Given the description of an element on the screen output the (x, y) to click on. 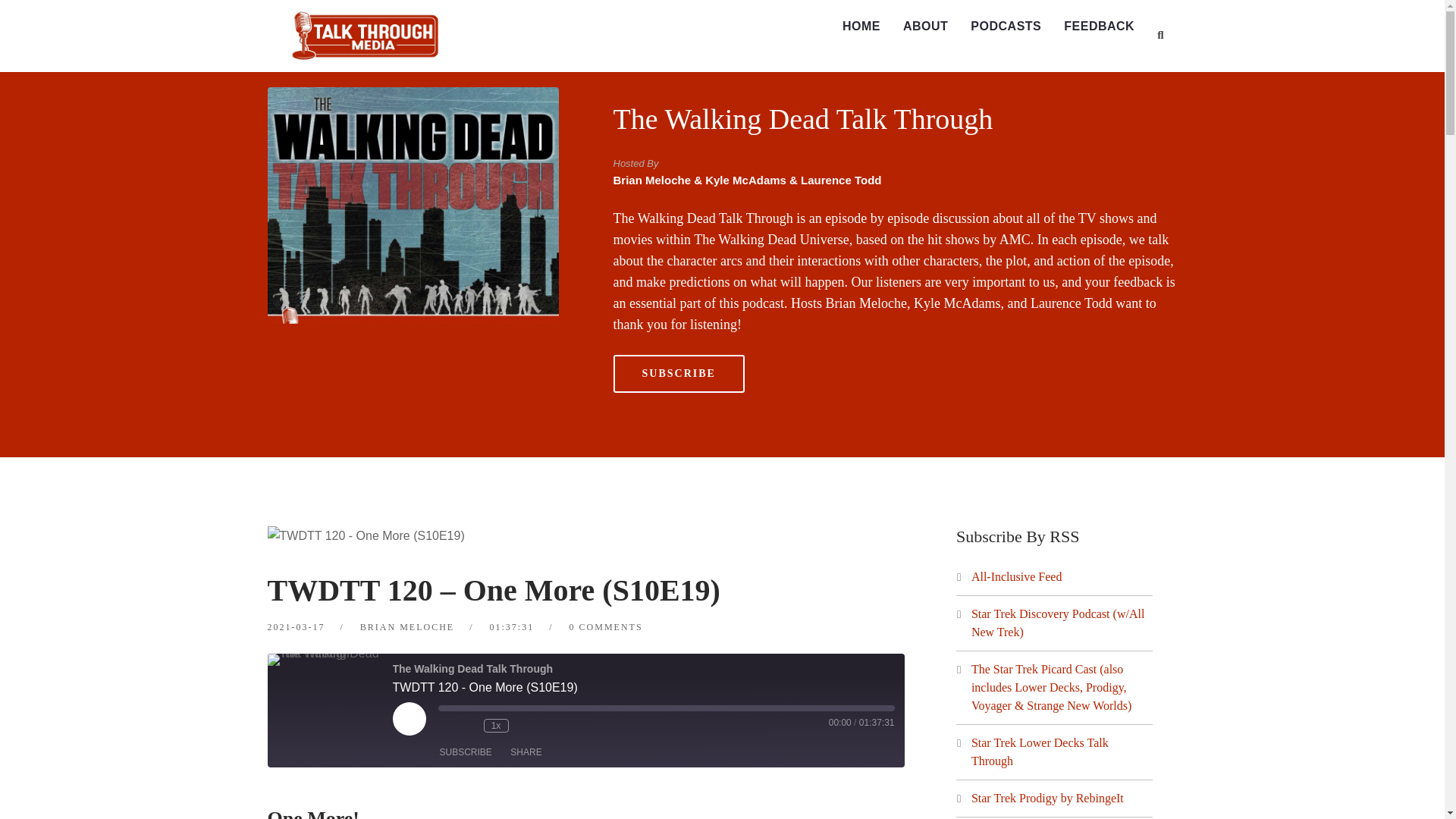
ABOUT (925, 26)
Submit (29, 20)
facebook (623, 431)
Play (409, 718)
PODCASTS (1005, 26)
twitter (658, 431)
Playback Speed (495, 725)
The Walking Dead Talk Through (802, 119)
0 COMMENTS (606, 626)
